Given the description of an element on the screen output the (x, y) to click on. 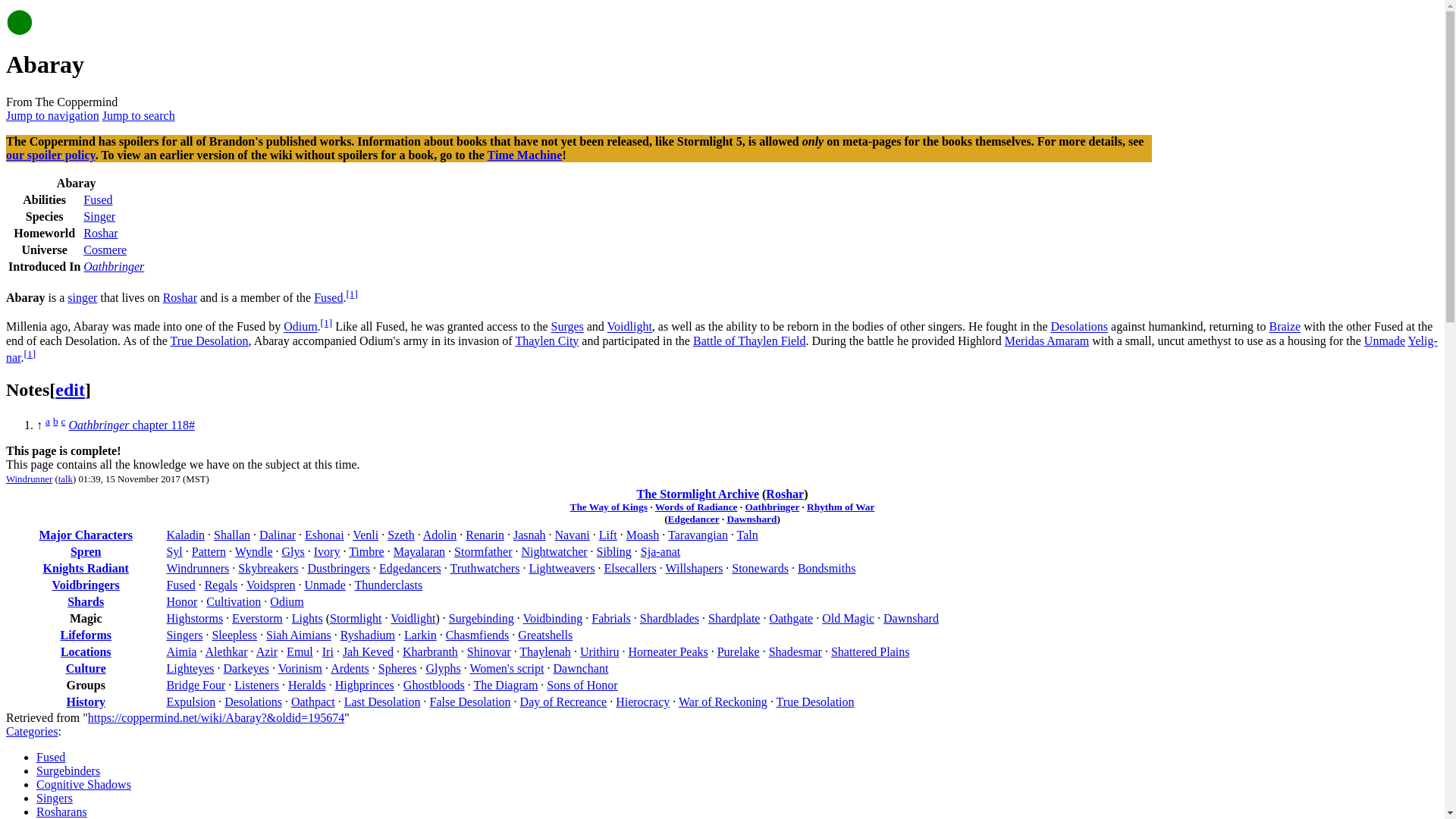
talk (65, 479)
Roshar (179, 297)
Fused (328, 297)
Singer (98, 215)
Desolations (1079, 327)
This article is complete (19, 20)
Cosmere (104, 249)
Windrunner (28, 479)
Odium (300, 327)
The Stormlight Archive (697, 493)
